Given the description of an element on the screen output the (x, y) to click on. 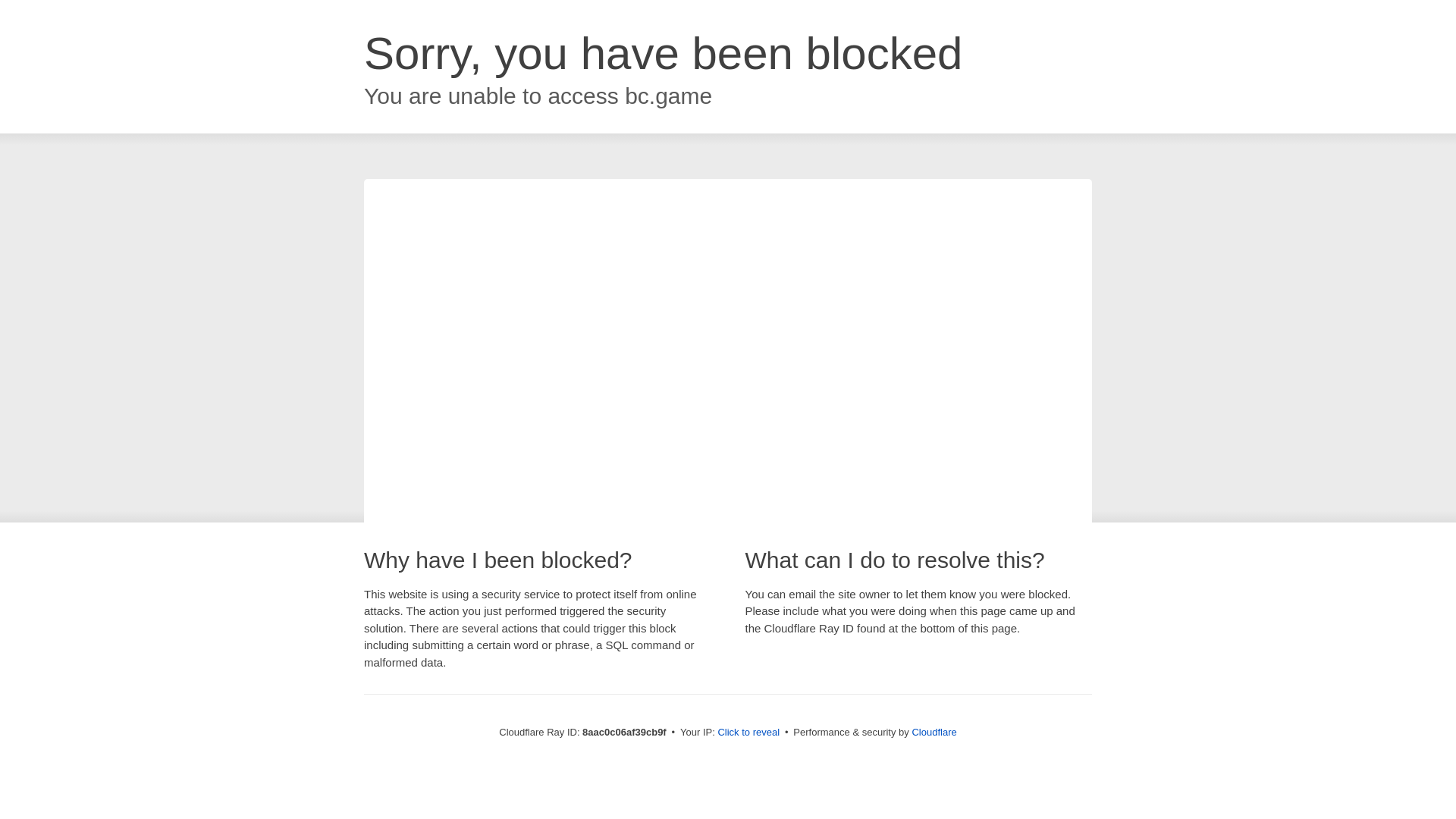
Cloudflare (933, 731)
Click to reveal (747, 732)
